Given the description of an element on the screen output the (x, y) to click on. 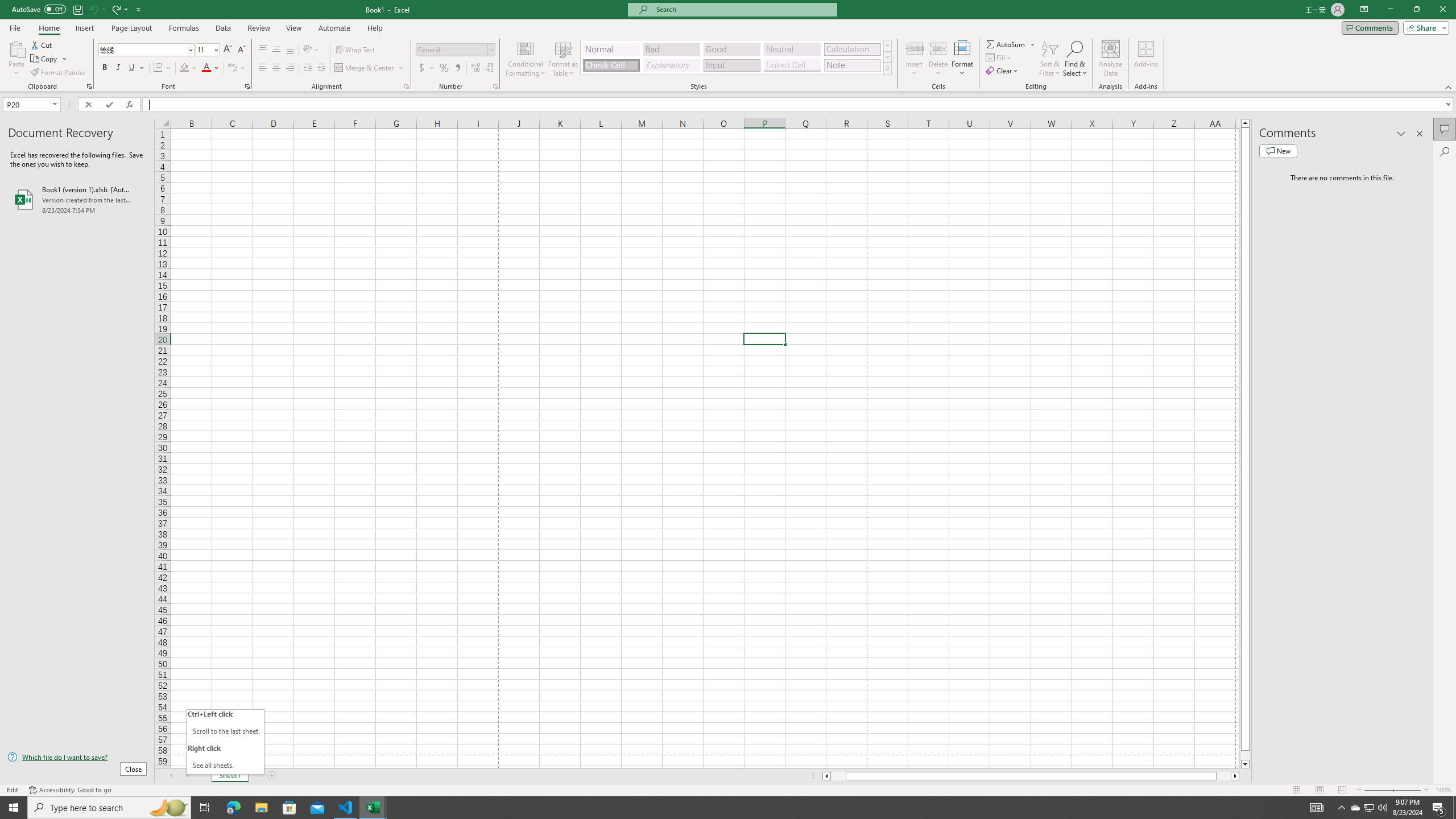
Explanatory Text (671, 65)
AutomationID: CellStylesGallery (736, 57)
Orientation (311, 49)
Font (147, 49)
Font Size (204, 49)
Paste (16, 58)
